Given the description of an element on the screen output the (x, y) to click on. 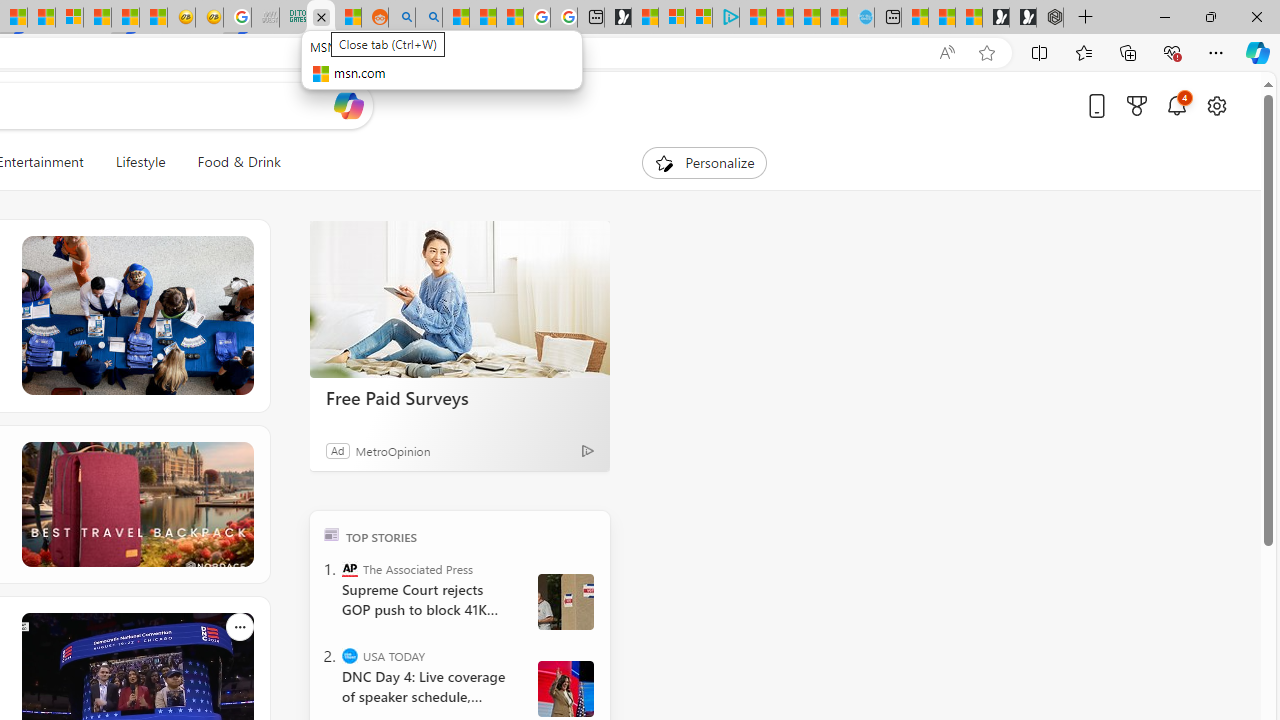
Free Paid Surveys (459, 299)
